Given the description of an element on the screen output the (x, y) to click on. 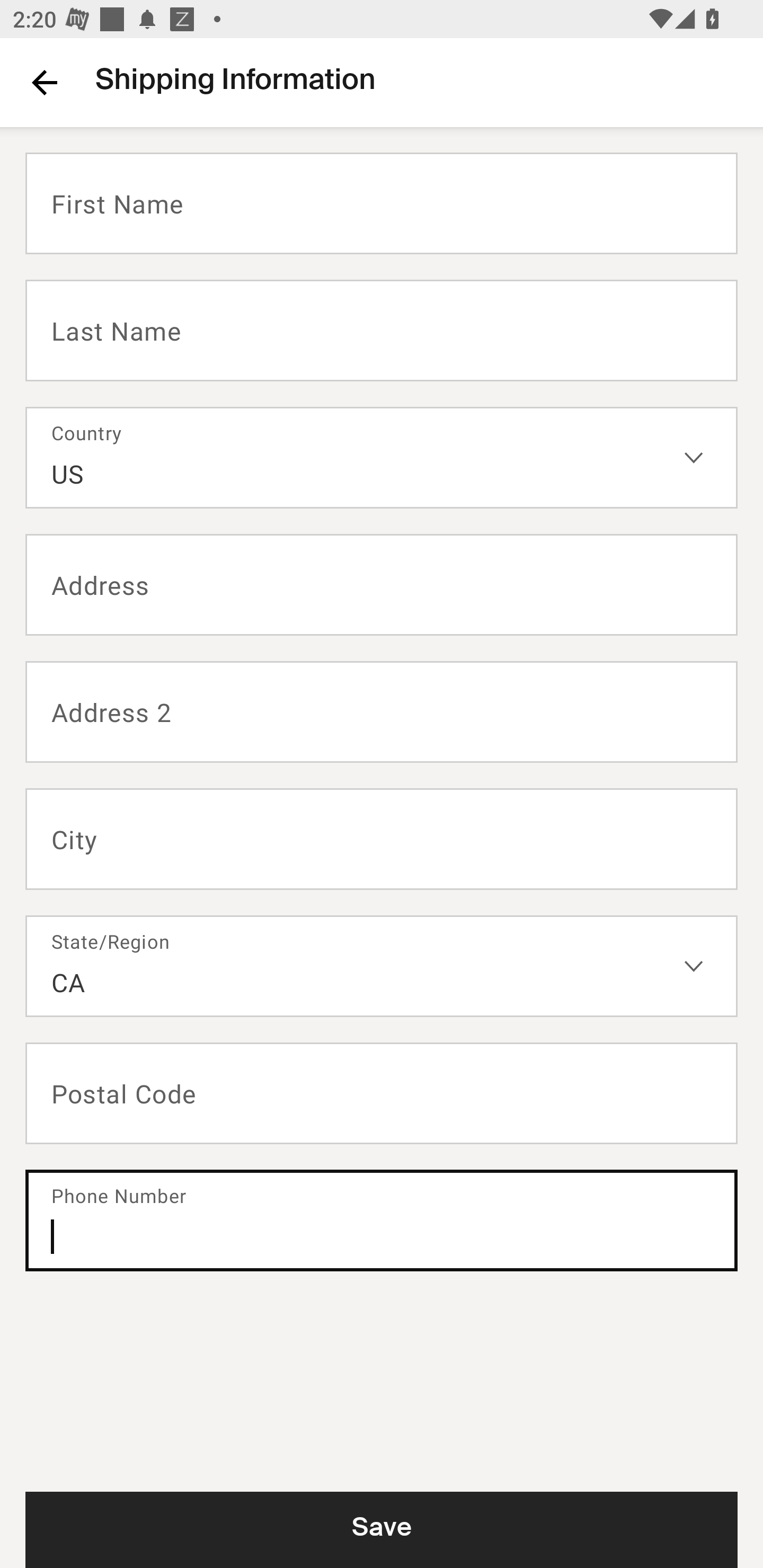
Navigate up (44, 82)
First Name (381, 203)
Last Name (381, 330)
Address (381, 584)
Address 2 (381, 711)
City (381, 839)
Postal Code (381, 1093)
Phone Number (381, 1220)
Save (381, 1529)
